Given the description of an element on the screen output the (x, y) to click on. 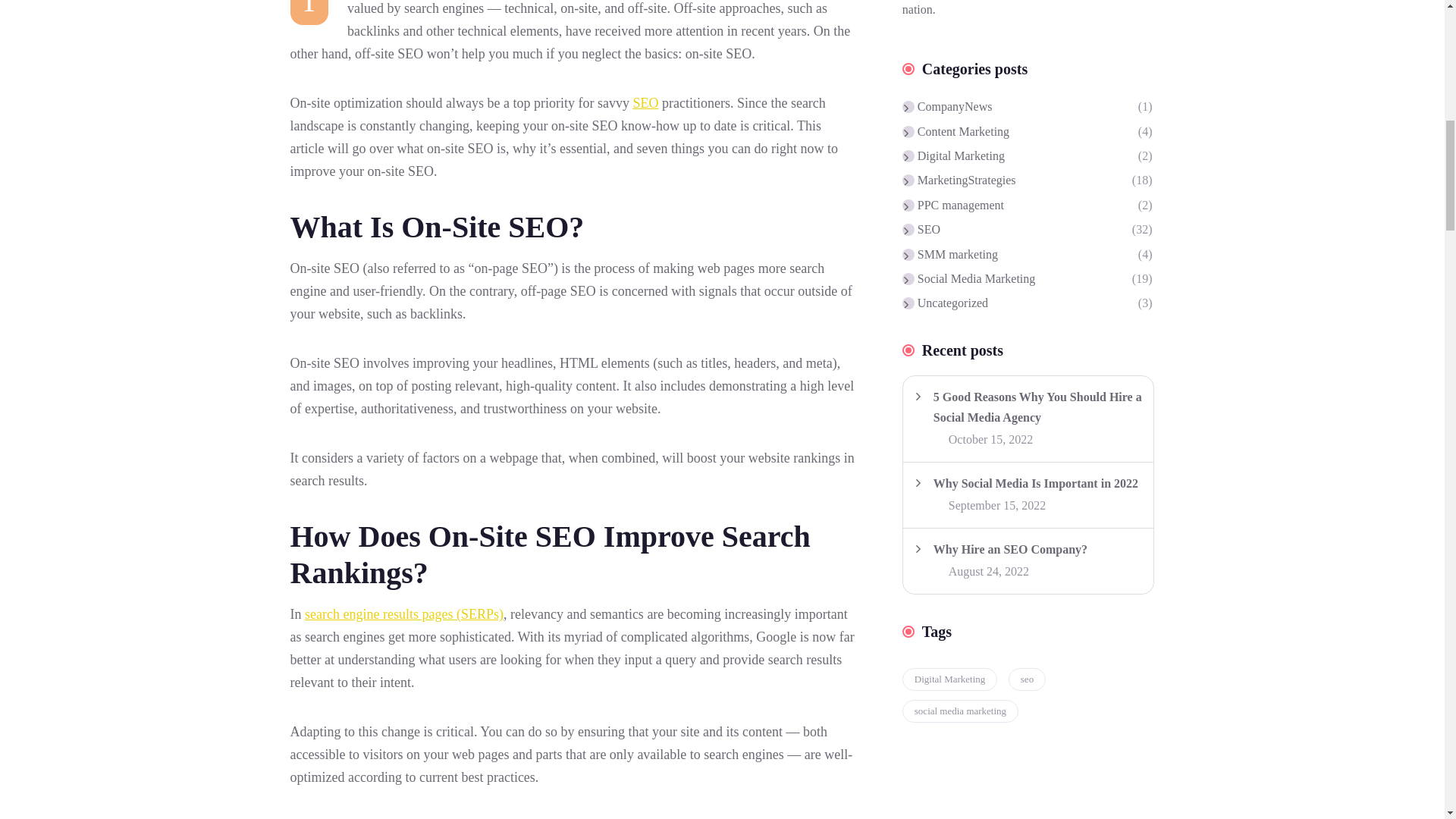
SEO (644, 102)
